Given the description of an element on the screen output the (x, y) to click on. 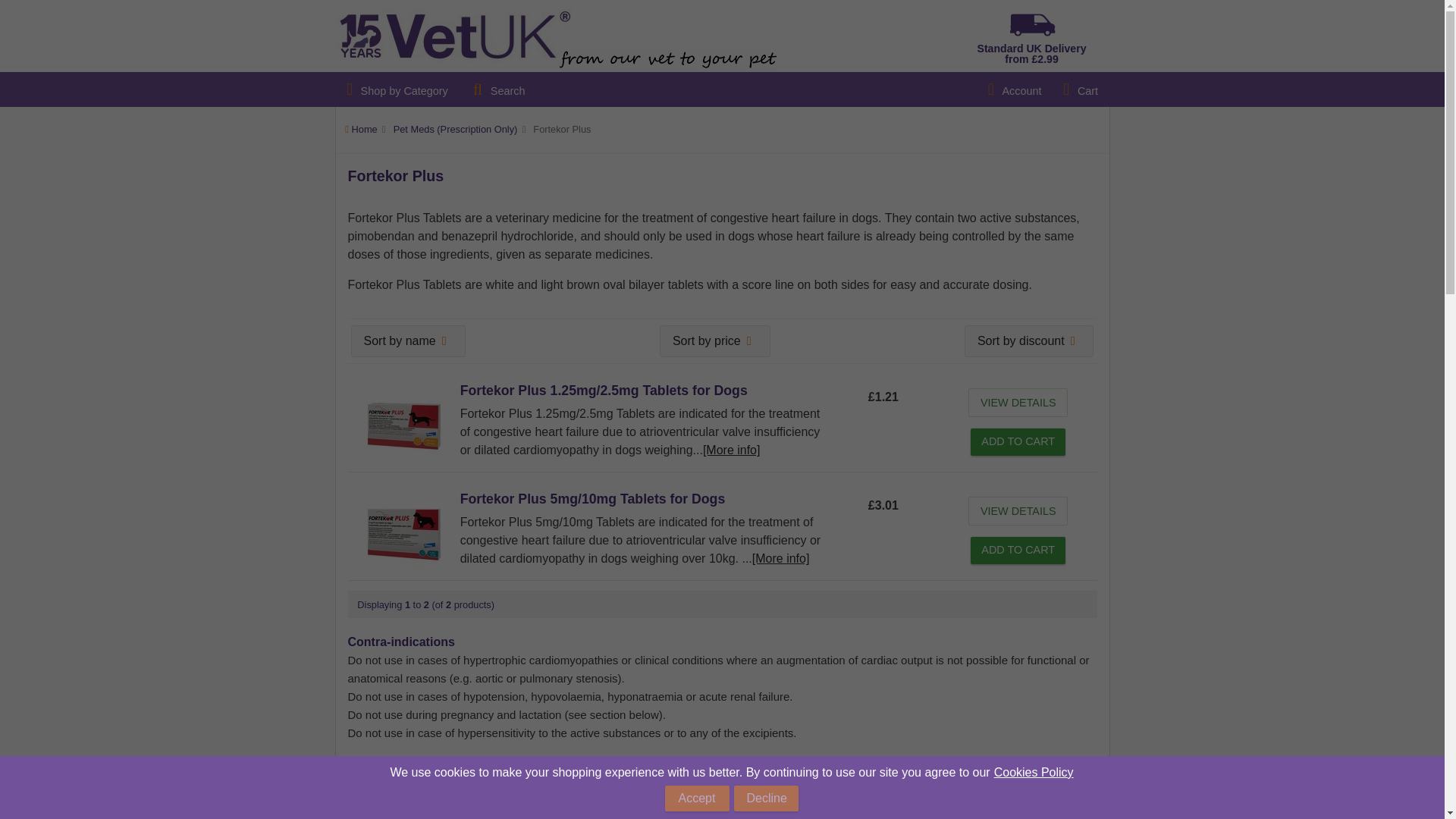
Sort by name (407, 341)
Accept (697, 798)
Sort products ascending by Price (714, 341)
Cookies Policy (1034, 771)
ADD TO CART (1018, 441)
ADD TO CART (1018, 550)
Sort products ascending by Discount (1028, 341)
Decline (765, 798)
Cart (1080, 89)
VIEW DETAILS (1017, 510)
Sort products ascending by Name (407, 341)
Sort by discount (1028, 341)
VIEW DETAILS (1017, 402)
Sort by price (714, 341)
Home (364, 129)
